Given the description of an element on the screen output the (x, y) to click on. 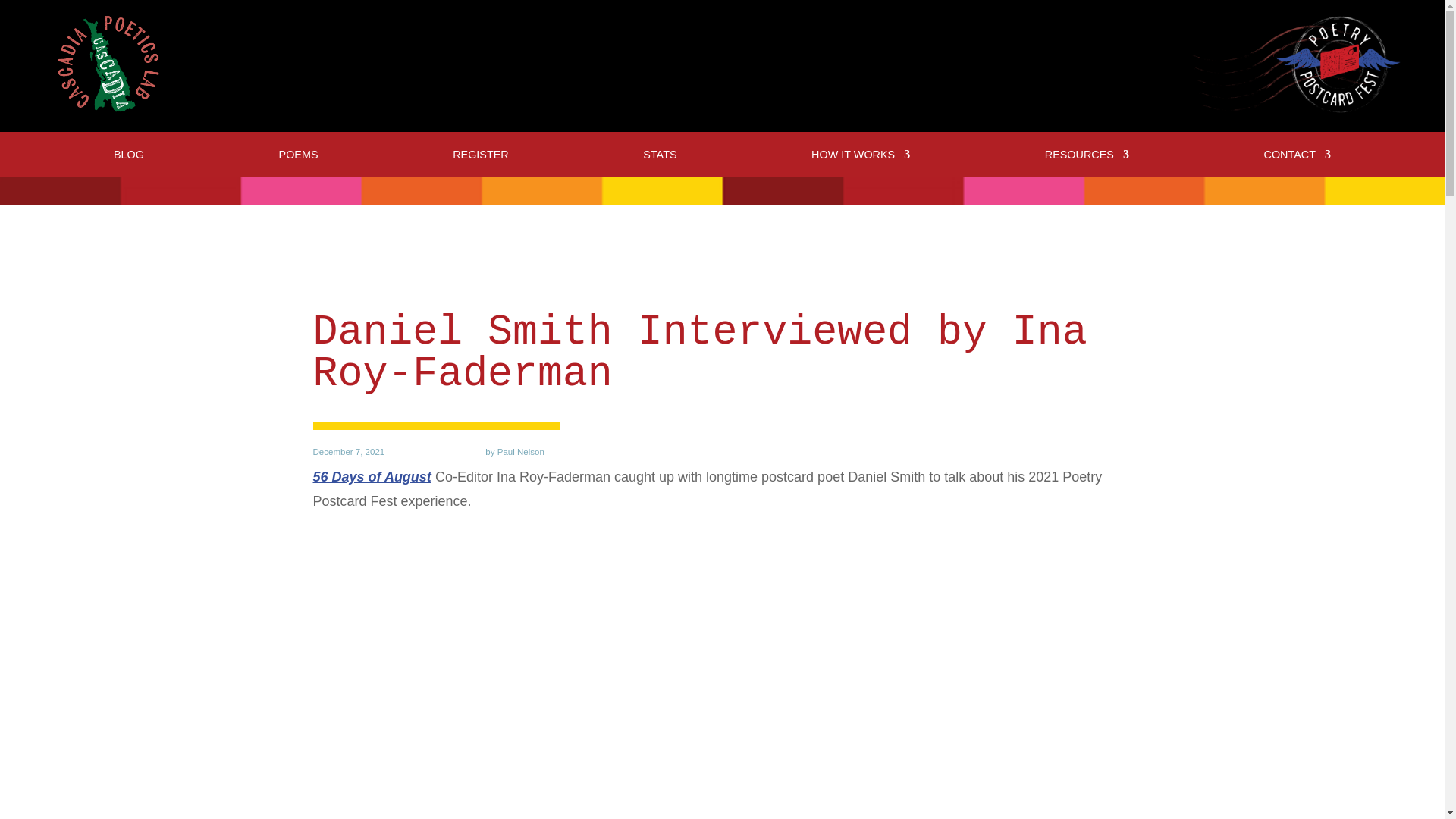
REGISTER (480, 157)
RESOURCES (1087, 157)
CONTACT (1296, 157)
STATS (660, 157)
Poetry Postcard Fest (1295, 64)
HOW IT WORKS (860, 157)
BLOG (128, 157)
Cascadia Poetics LAB logo (107, 65)
POEMS (298, 157)
